Given the description of an element on the screen output the (x, y) to click on. 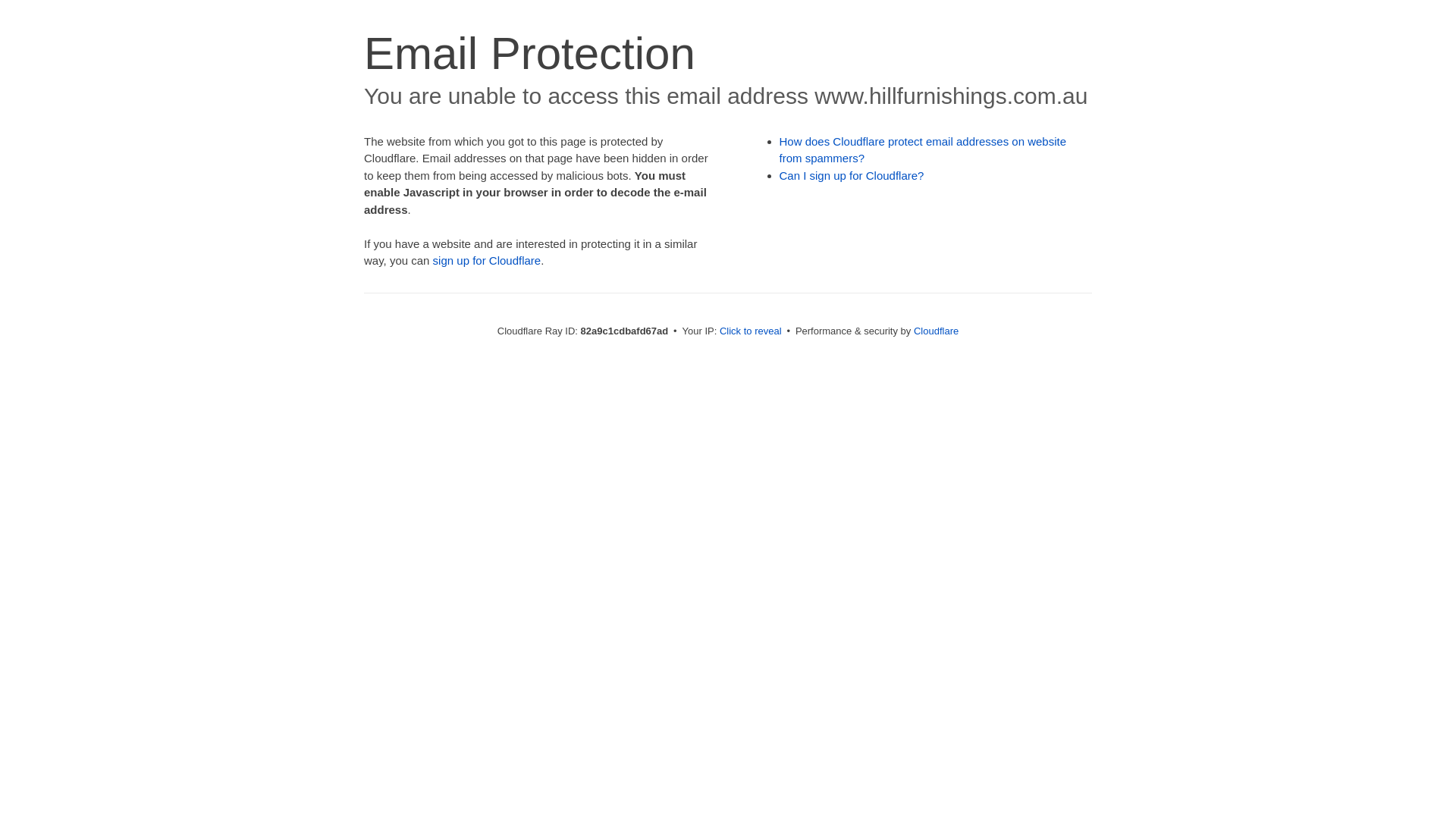
Click to reveal Element type: text (750, 330)
Cloudflare Element type: text (935, 330)
sign up for Cloudflare Element type: text (487, 260)
Can I sign up for Cloudflare? Element type: text (851, 175)
